Given the description of an element on the screen output the (x, y) to click on. 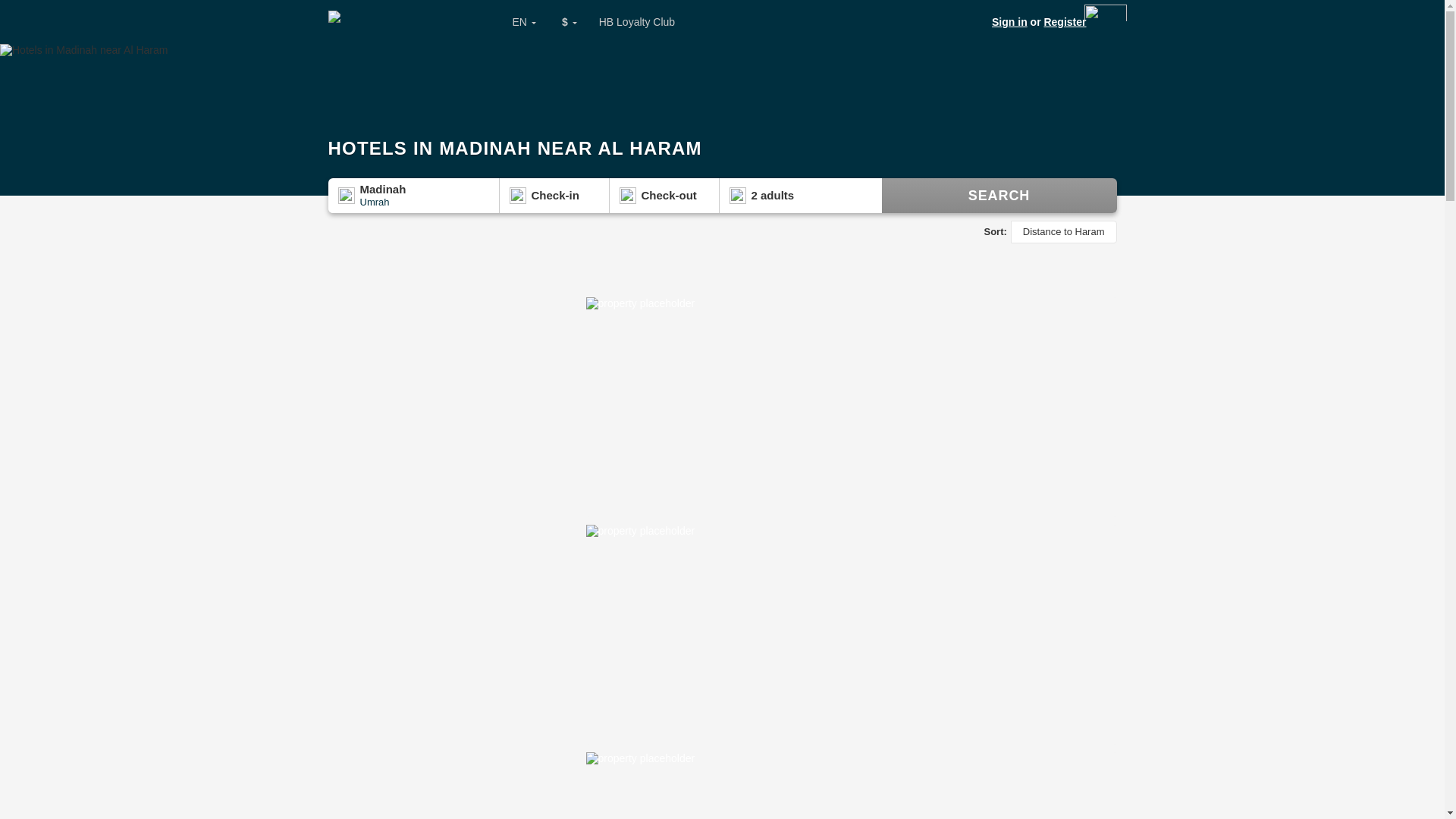
Register (1064, 21)
HB Loyalty Club (636, 22)
SEARCH (998, 195)
Sign in (1009, 21)
Distance to Haram (1063, 231)
English (513, 22)
